Given the description of an element on the screen output the (x, y) to click on. 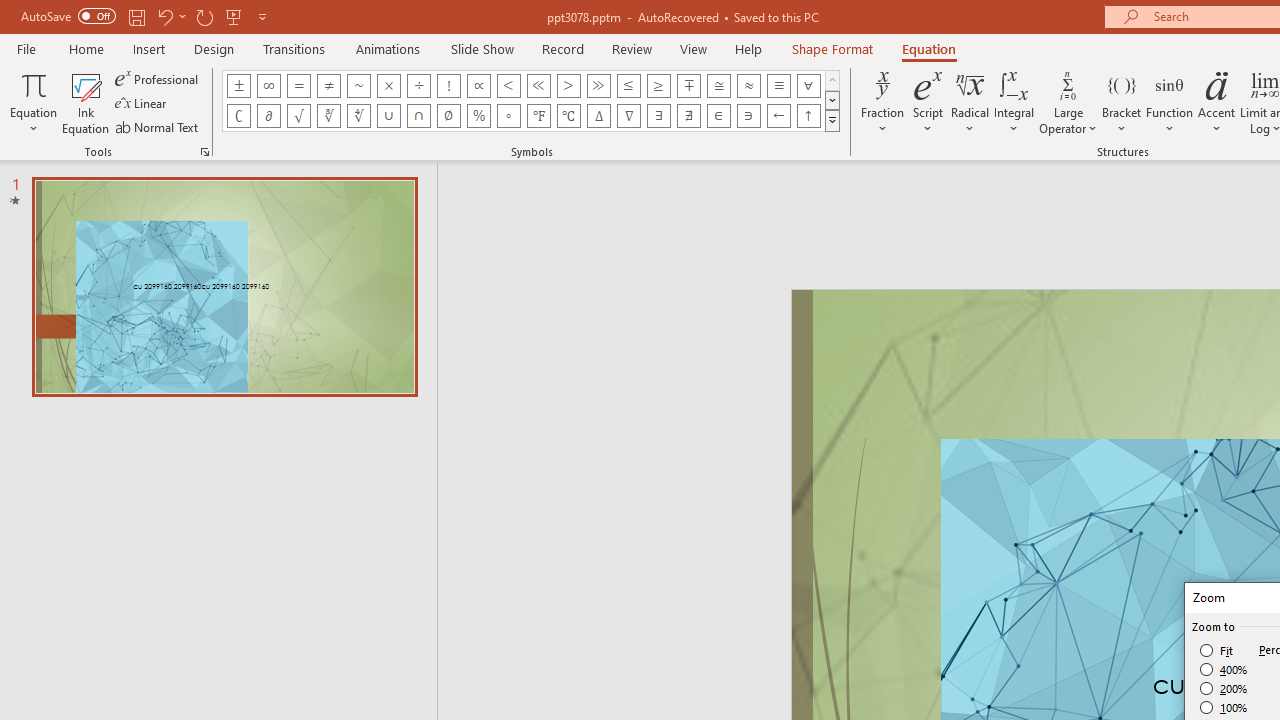
Accent (1216, 102)
Equation Symbol Infinity (268, 85)
Equation Symbol Much Less Than (538, 85)
Professional (158, 78)
Large Operator (1067, 102)
Function (1169, 102)
Equation Symbol Proportional To (478, 85)
Integral (1014, 102)
Equation Symbol Fourth Root (358, 115)
Equation Symbol Greater Than (568, 85)
